Given the description of an element on the screen output the (x, y) to click on. 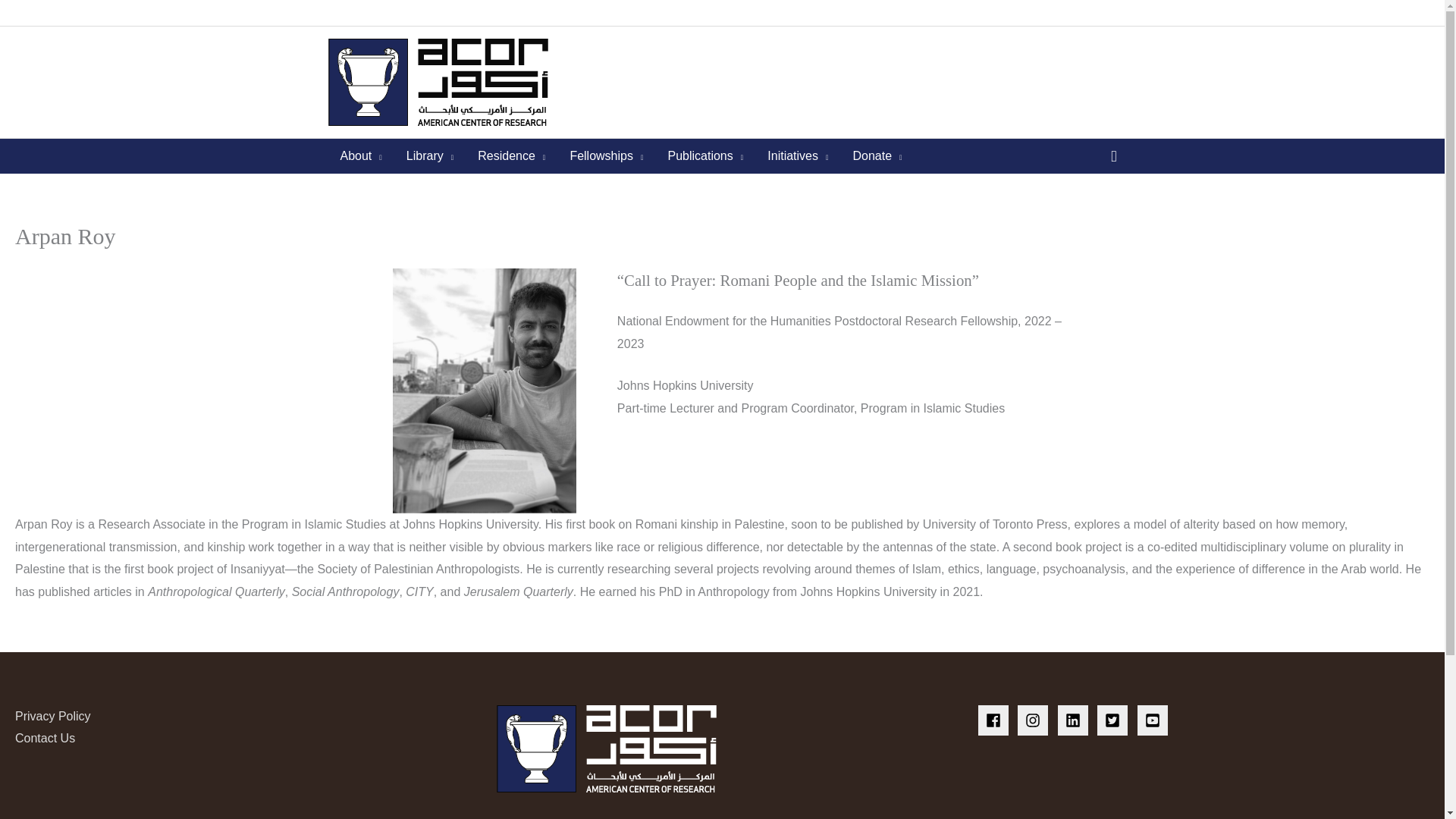
MAILING LIST (458, 12)
FAQ (613, 12)
CONTACT US (547, 12)
RSS (391, 12)
HOME (348, 12)
